Given the description of an element on the screen output the (x, y) to click on. 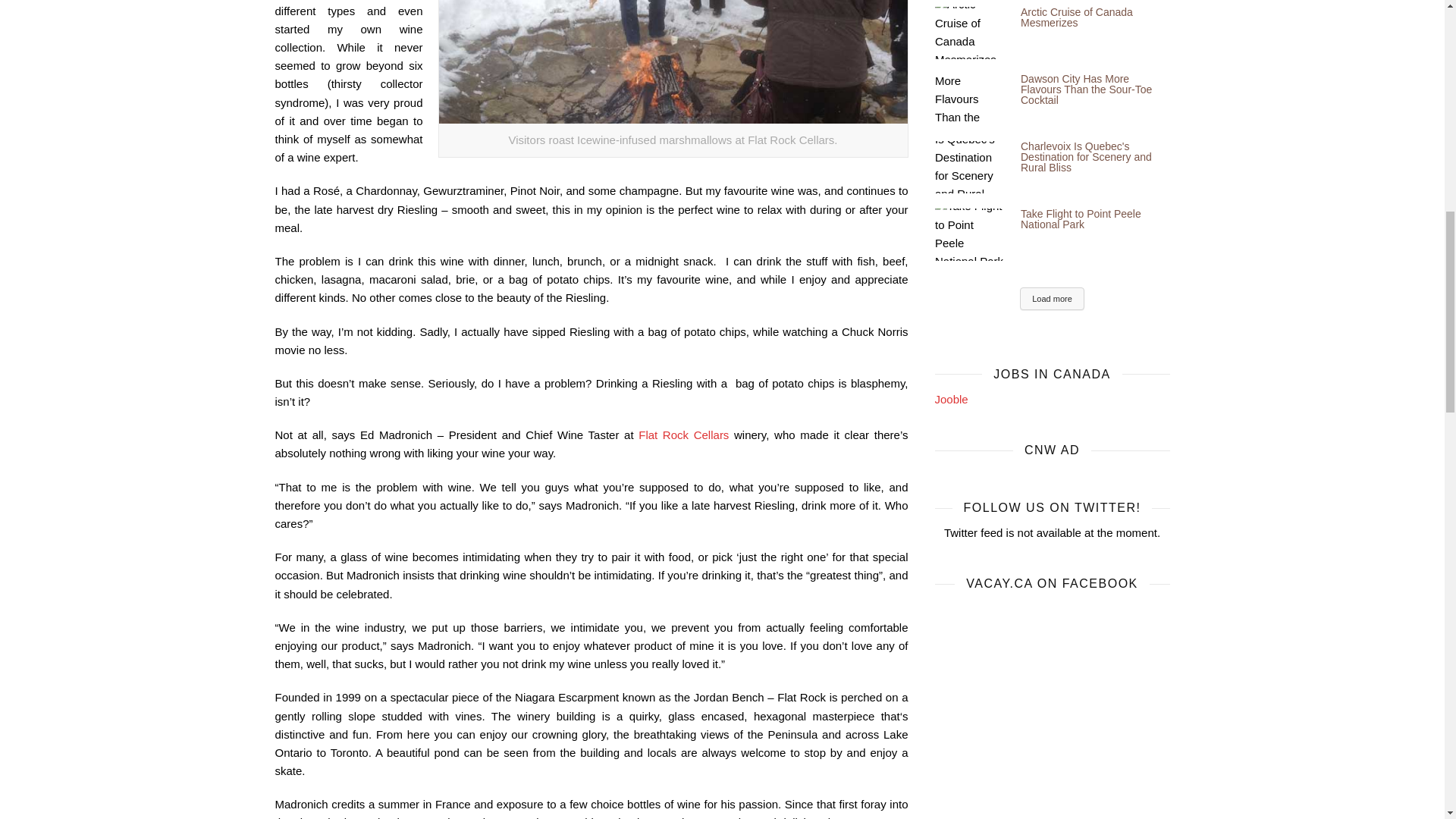
FlatRock (672, 61)
